Given the description of an element on the screen output the (x, y) to click on. 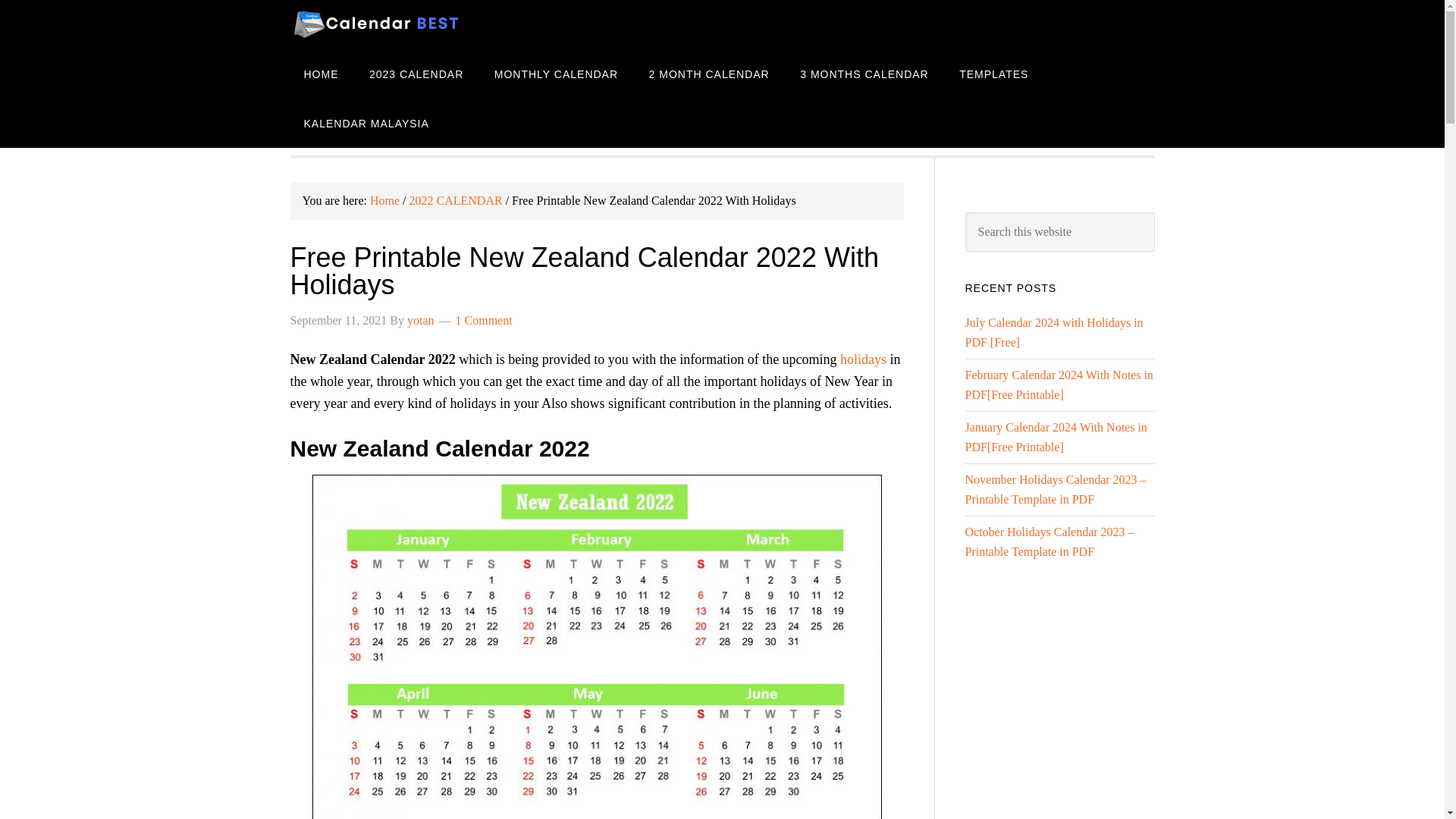
TEMPLATES (993, 73)
HOME (320, 73)
yotan (420, 319)
2 MONTH CALENDAR (708, 73)
MONTHLY CALENDAR (555, 73)
FREE PRINTABLE CALENDAR 2023 (410, 24)
holidays (863, 359)
KALENDAR MALAYSIA (365, 123)
3 MONTHS CALENDAR (864, 73)
Home (383, 200)
2022 CALENDAR (455, 200)
2023 CALENDAR (416, 73)
1 Comment (483, 319)
